Given the description of an element on the screen output the (x, y) to click on. 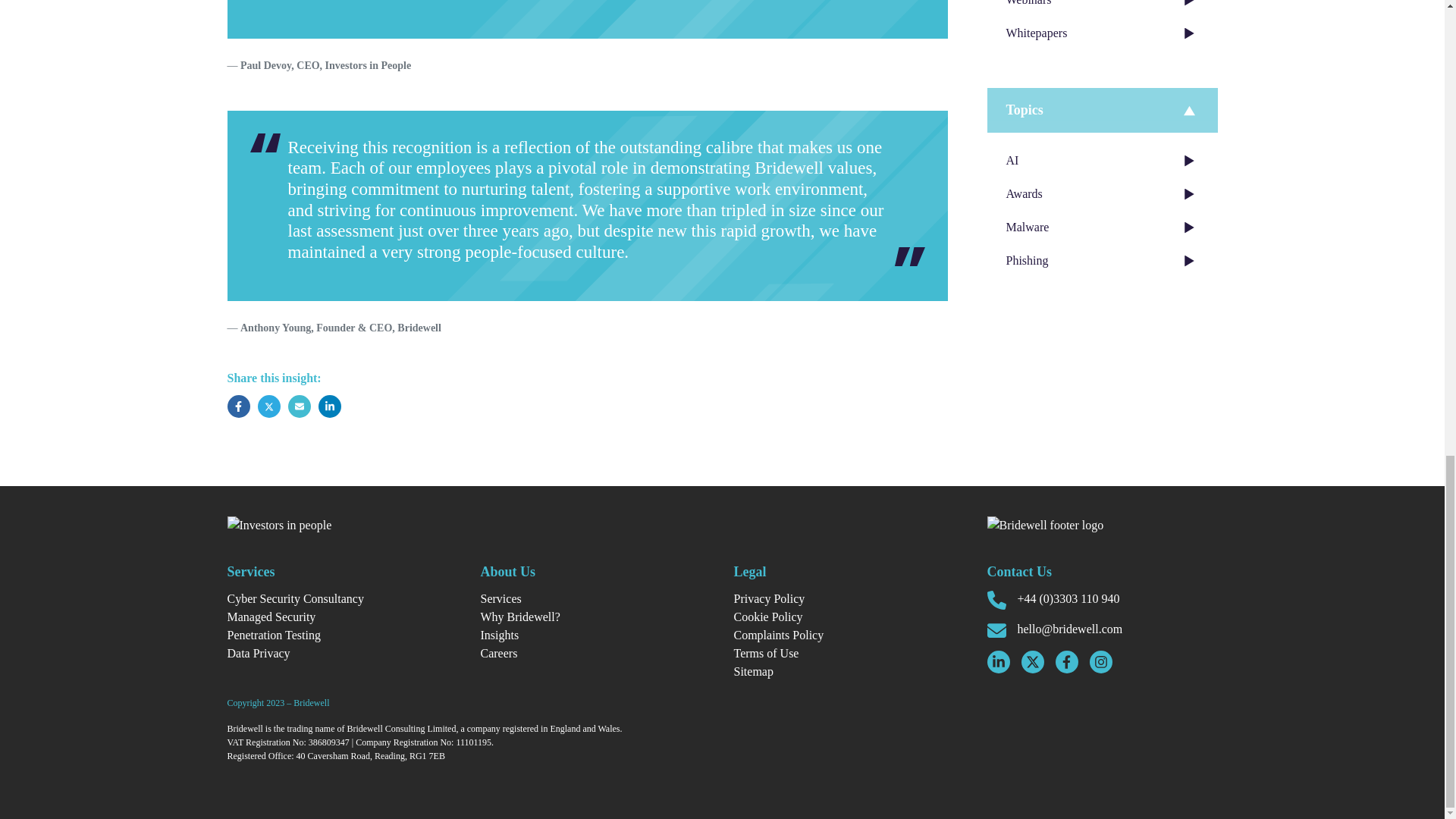
linkedin (998, 661)
instagram (1100, 661)
facebook (1066, 661)
twitter (1031, 661)
